Given the description of an element on the screen output the (x, y) to click on. 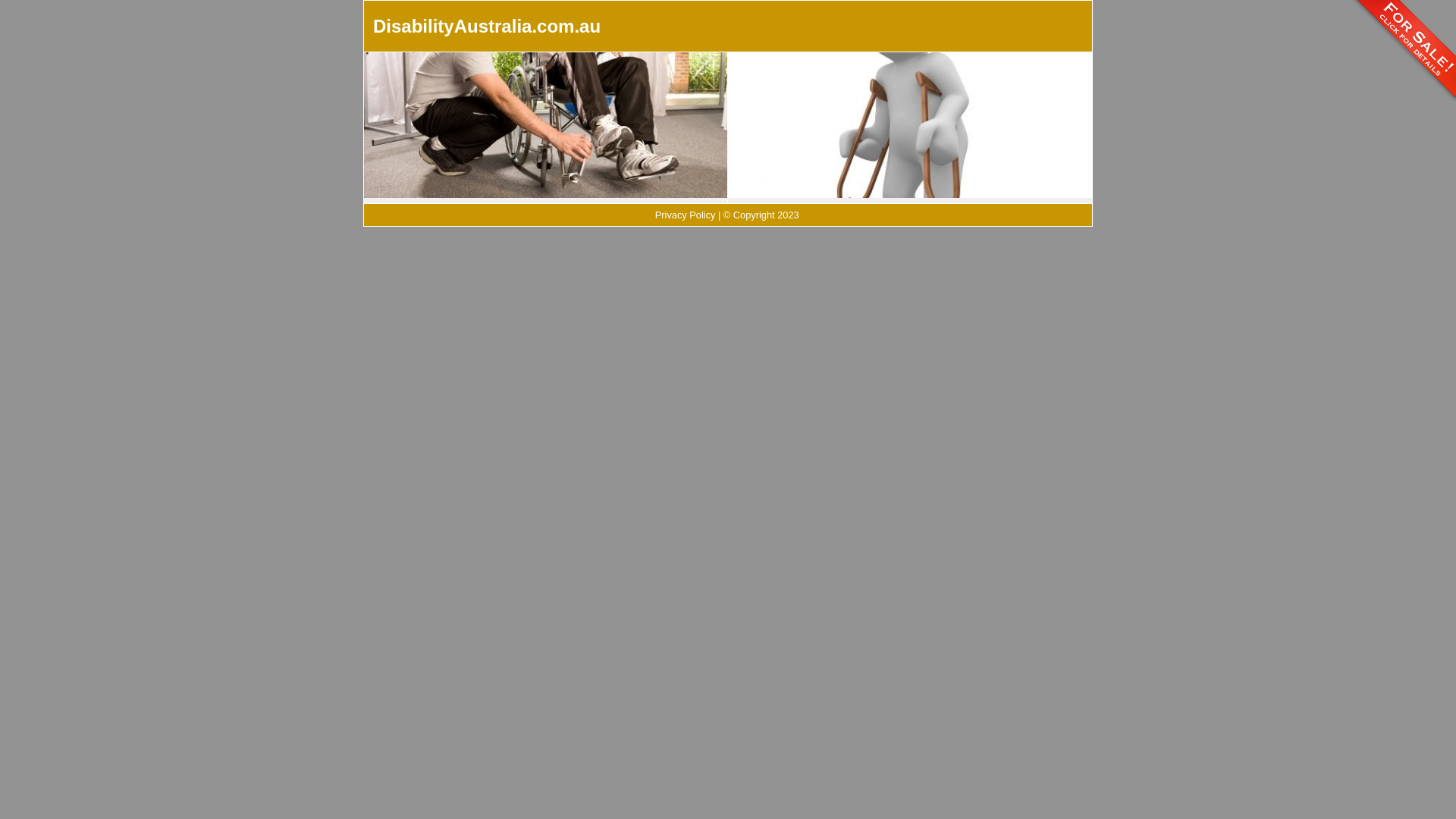
DisabilityAustralia.com.au Element type: text (486, 25)
Privacy Policy Element type: text (685, 214)
